Given the description of an element on the screen output the (x, y) to click on. 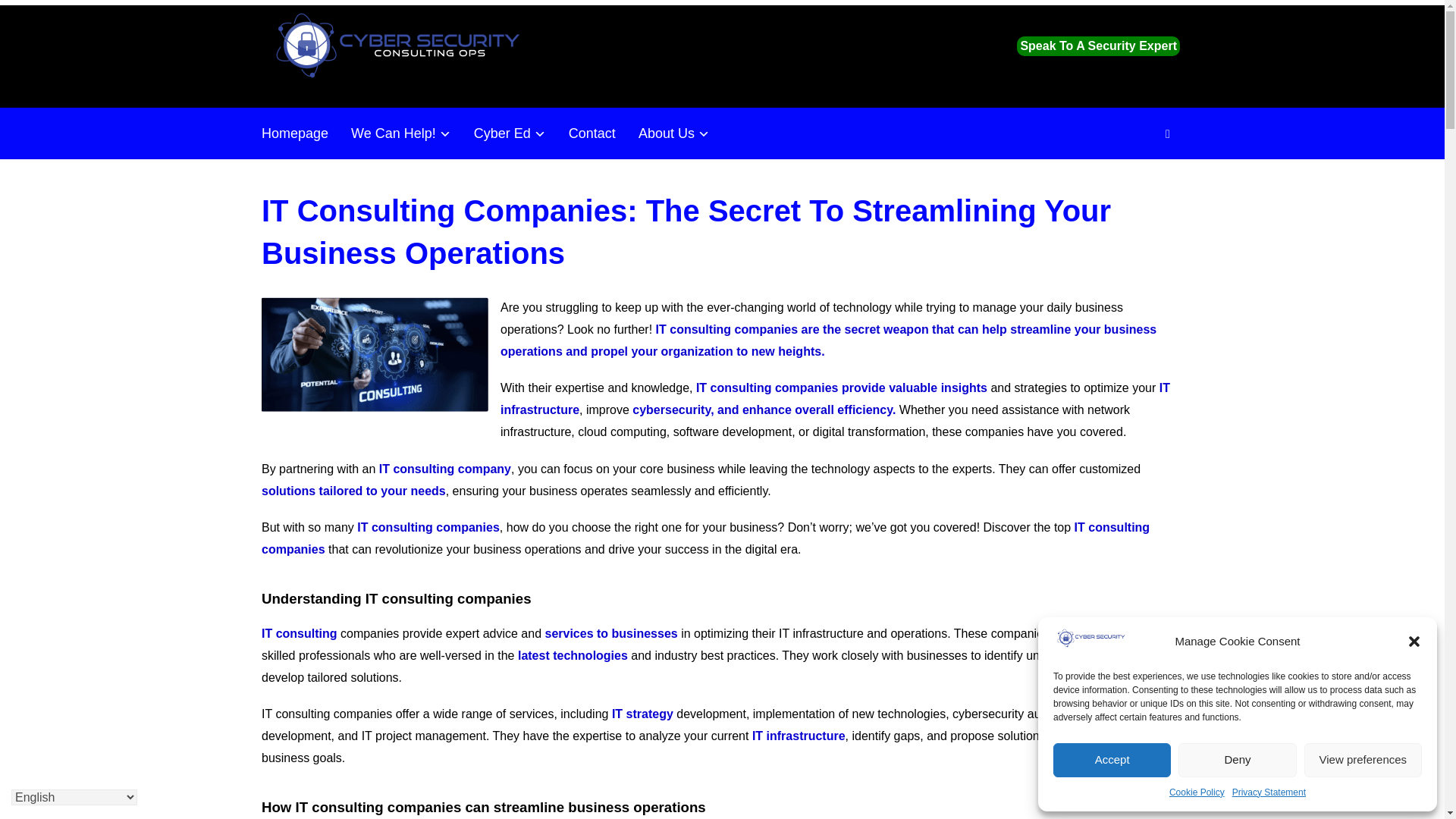
Speak To A Security Expert (1097, 46)
Deny (1236, 759)
Privacy Statement (1268, 792)
Search (1167, 132)
Accept (1111, 759)
Cookie Policy (1196, 792)
View preferences (1363, 759)
